Given the description of an element on the screen output the (x, y) to click on. 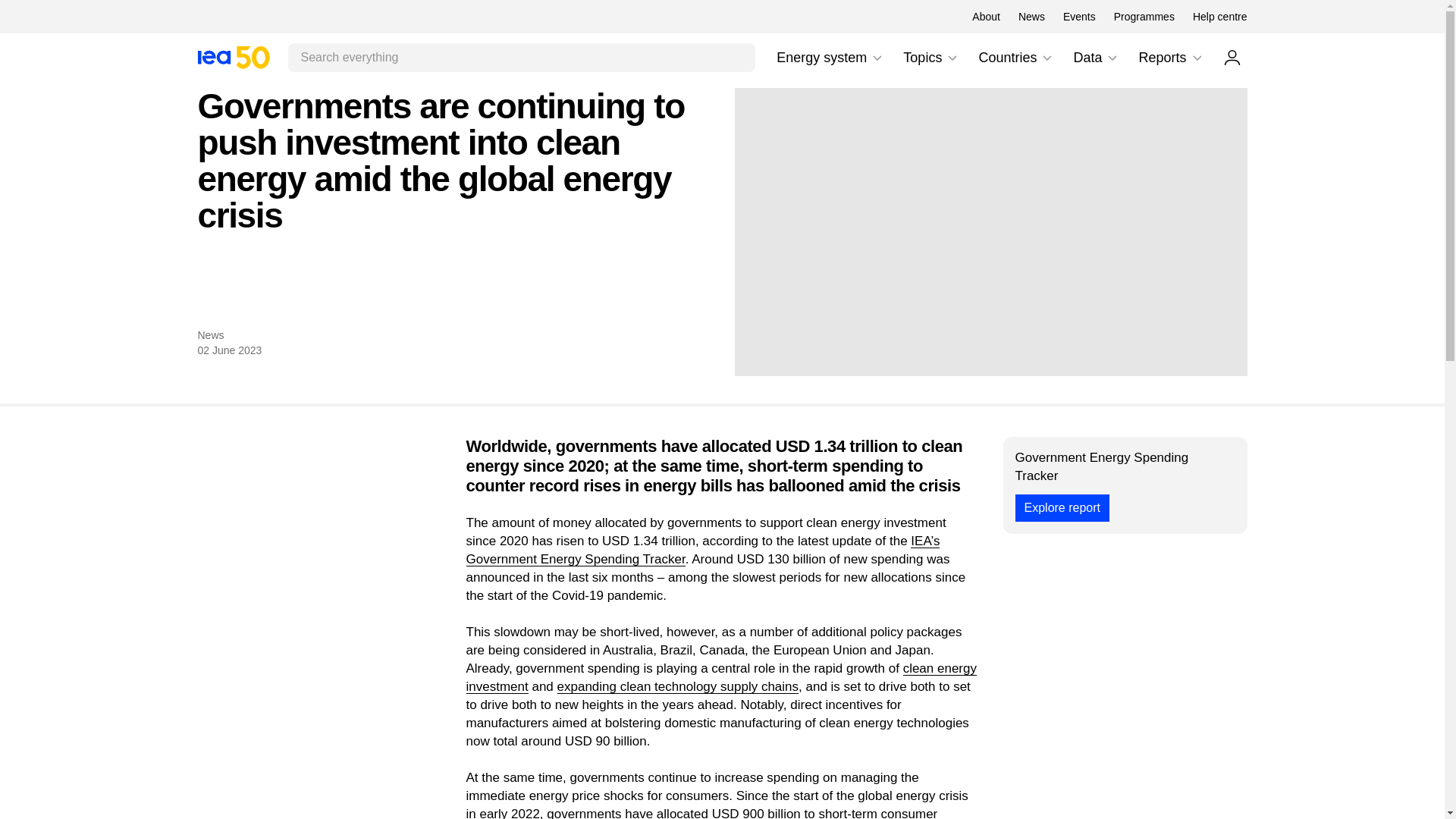
IEA (232, 56)
Help centre (830, 57)
Events (1219, 16)
Chevron down (1079, 16)
Programmes (1112, 57)
Chevron down (1143, 16)
About (1196, 57)
IEA (986, 16)
User Profile (232, 56)
Chevron down (1231, 57)
News (877, 57)
Chevron down (1031, 16)
Chevron down (1046, 57)
